Given the description of an element on the screen output the (x, y) to click on. 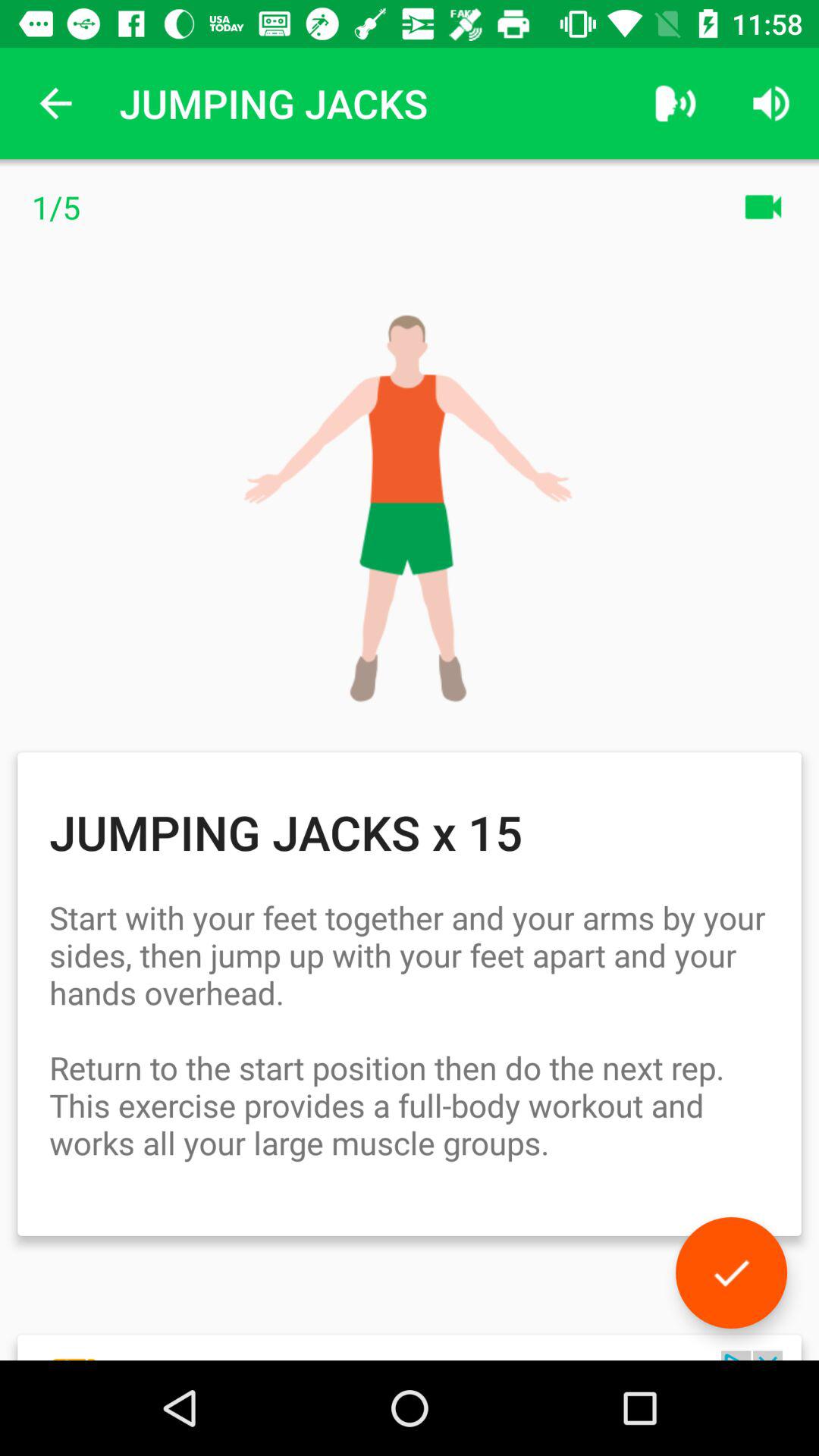
turn off icon next to jumping jacks app (55, 103)
